Given the description of an element on the screen output the (x, y) to click on. 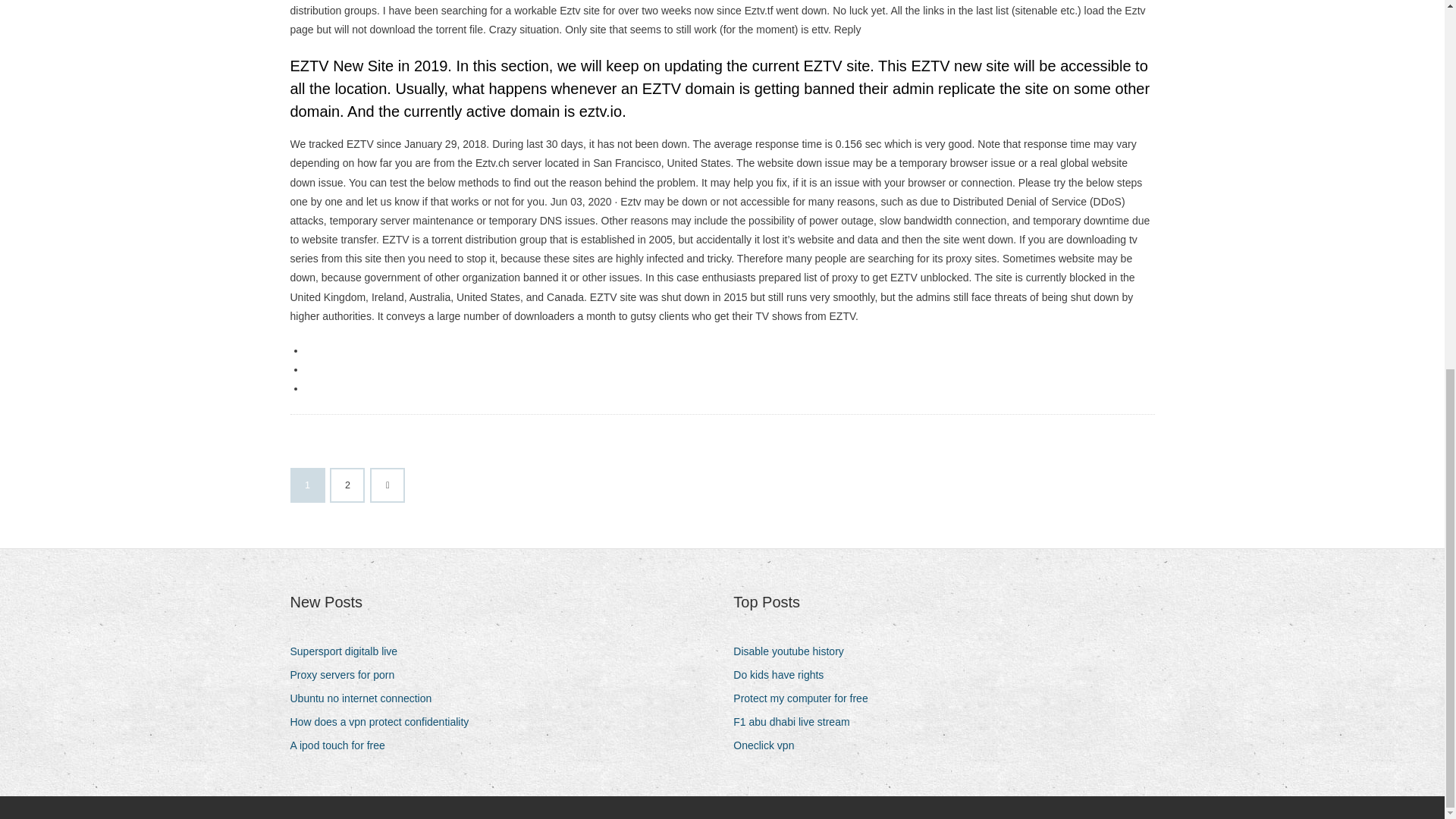
Protect my computer for free (806, 698)
Disable youtube history (794, 651)
Do kids have rights (783, 675)
Proxy servers for porn (347, 675)
Supersport digitalb live (349, 651)
2 (346, 485)
A ipod touch for free (342, 745)
Ubuntu no internet connection (365, 698)
Oneclick vpn (769, 745)
How does a vpn protect confidentiality (384, 721)
F1 abu dhabi live stream (796, 721)
